Given the description of an element on the screen output the (x, y) to click on. 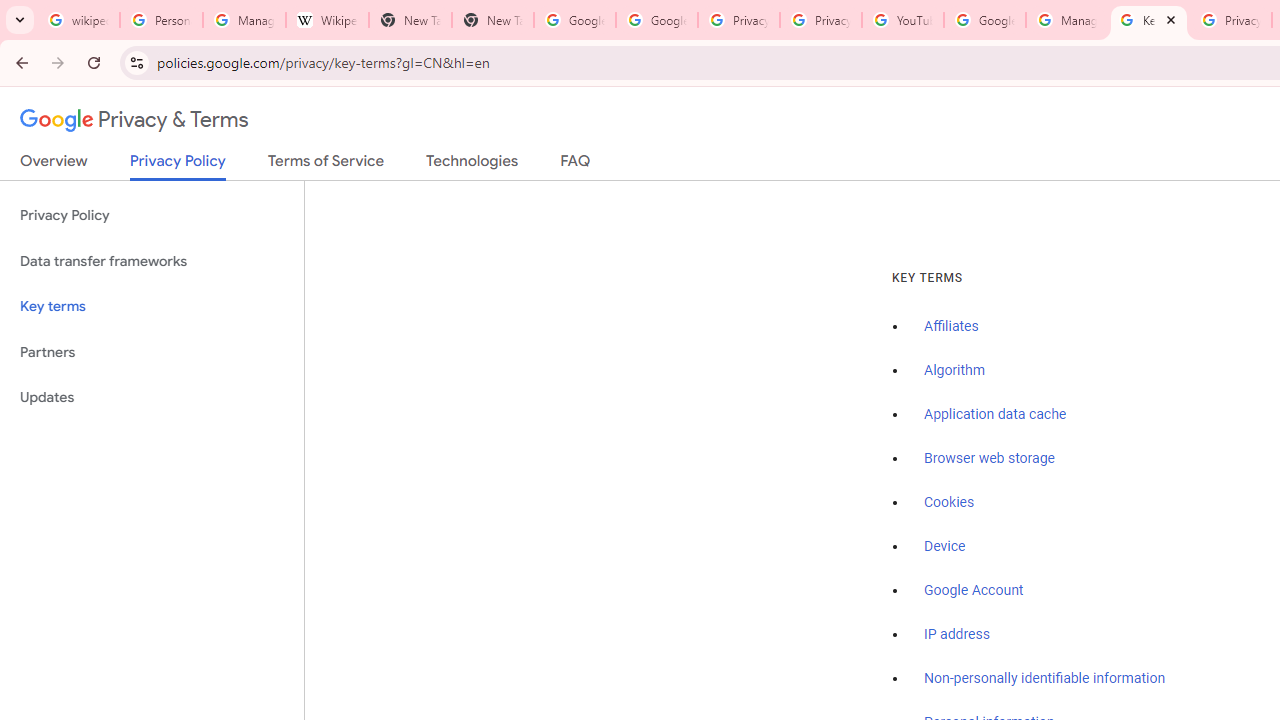
IP address (956, 634)
Google Account Help (984, 20)
Algorithm (954, 371)
Affiliates (951, 327)
Cookies (949, 502)
Non-personally identifiable information (1045, 679)
